Given the description of an element on the screen output the (x, y) to click on. 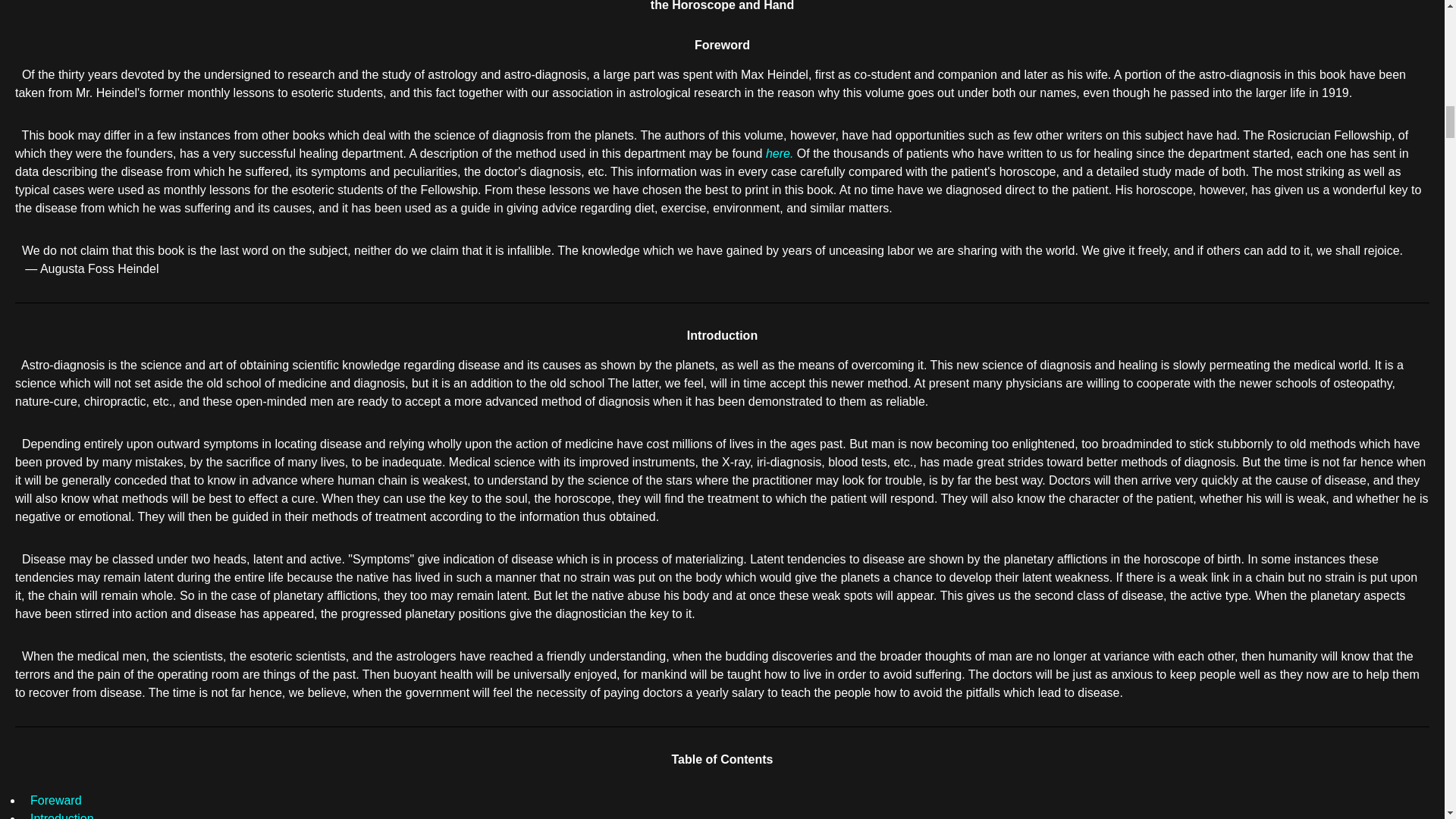
This (33, 134)
Foreward (55, 799)
Foreword (721, 44)
Table of Contents (722, 758)
Depending (50, 442)
When (37, 655)
here. (779, 153)
We (30, 250)
Introduction (62, 815)
Disease (43, 558)
